Given the description of an element on the screen output the (x, y) to click on. 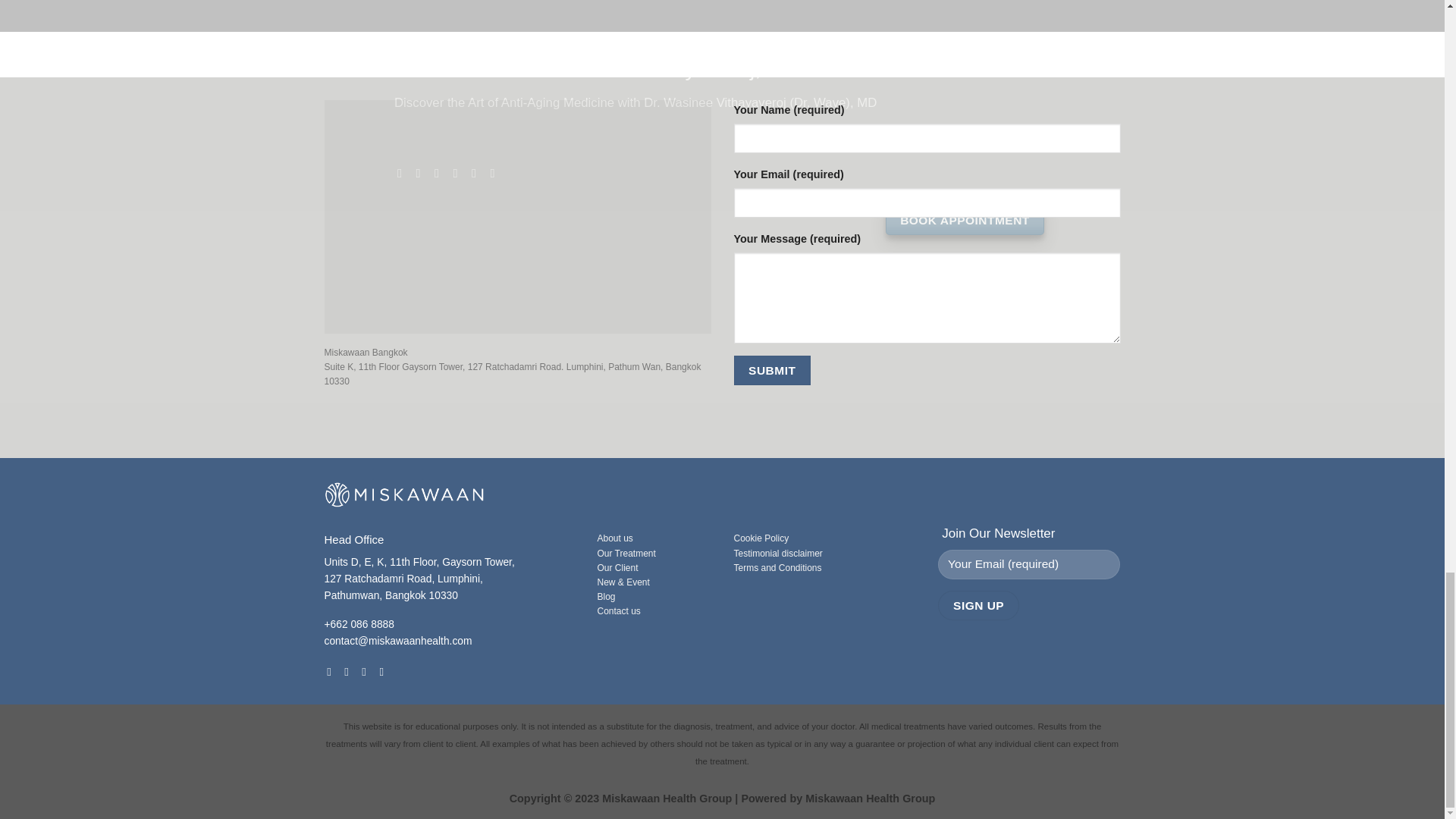
Sign Up (977, 604)
Submit (771, 369)
